Given the description of an element on the screen output the (x, y) to click on. 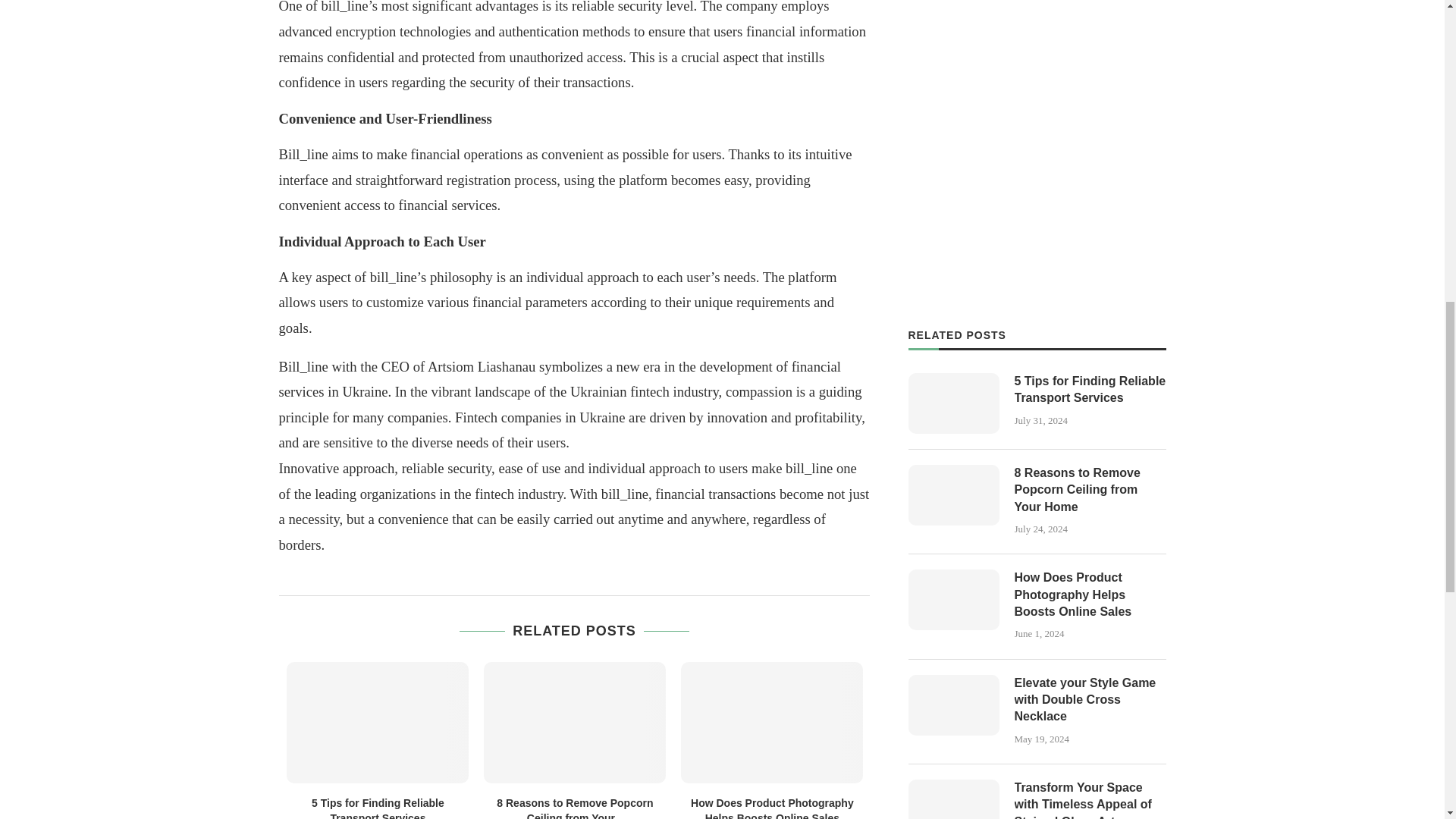
8 Reasons to Remove Popcorn Ceiling from Your Home (574, 721)
5 Tips for Finding Reliable Transport Services (377, 807)
5 Tips for Finding Reliable Transport Services (377, 721)
How Does Product Photography Helps Boosts Online Sales (772, 721)
